Given the description of an element on the screen output the (x, y) to click on. 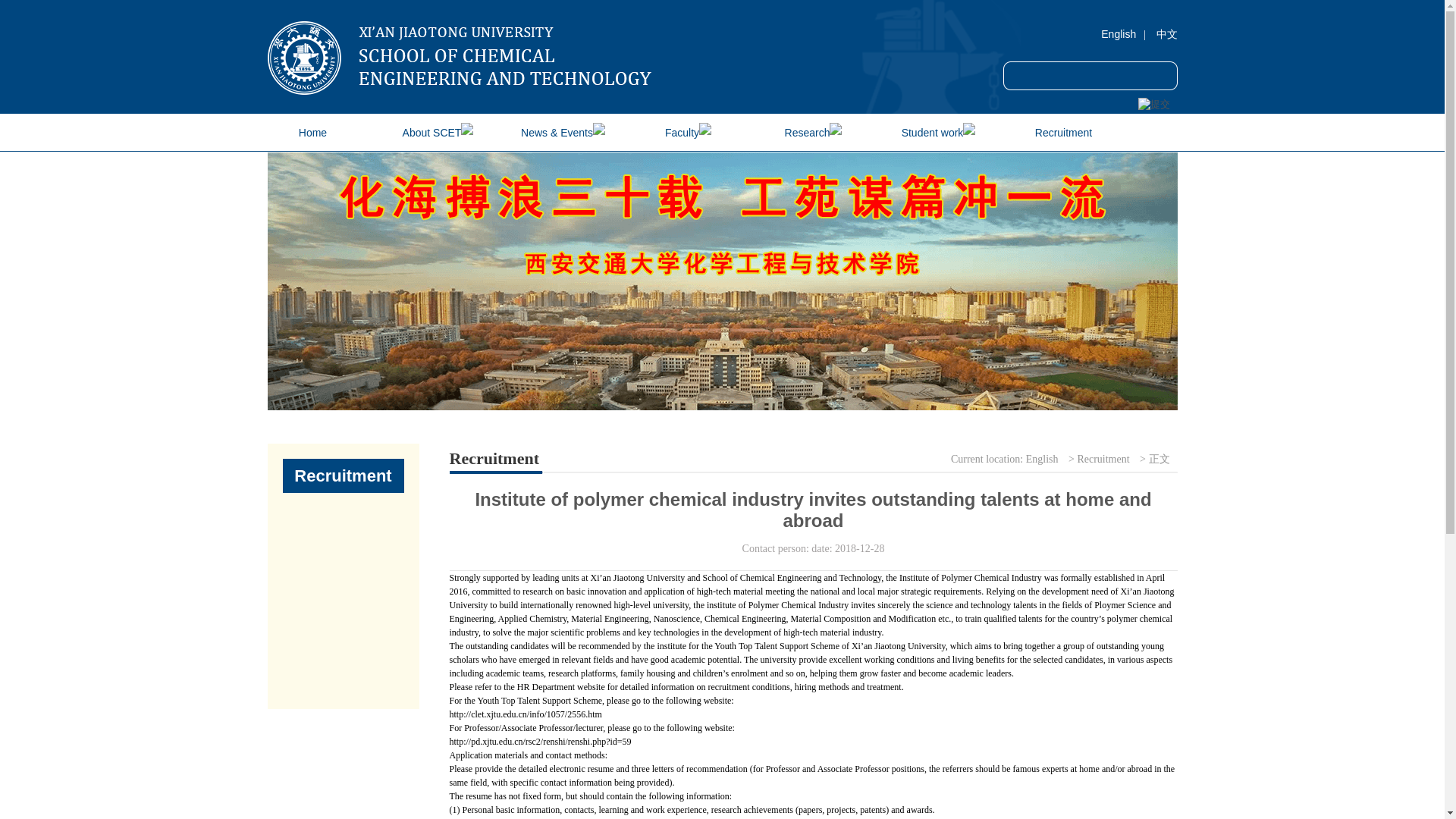
Faculty (688, 132)
Recruitment (1103, 458)
Research (813, 132)
Recruitment (1063, 132)
English (1117, 33)
Home (312, 132)
English (1042, 458)
About SCET (438, 132)
Student work (938, 132)
